Given the description of an element on the screen output the (x, y) to click on. 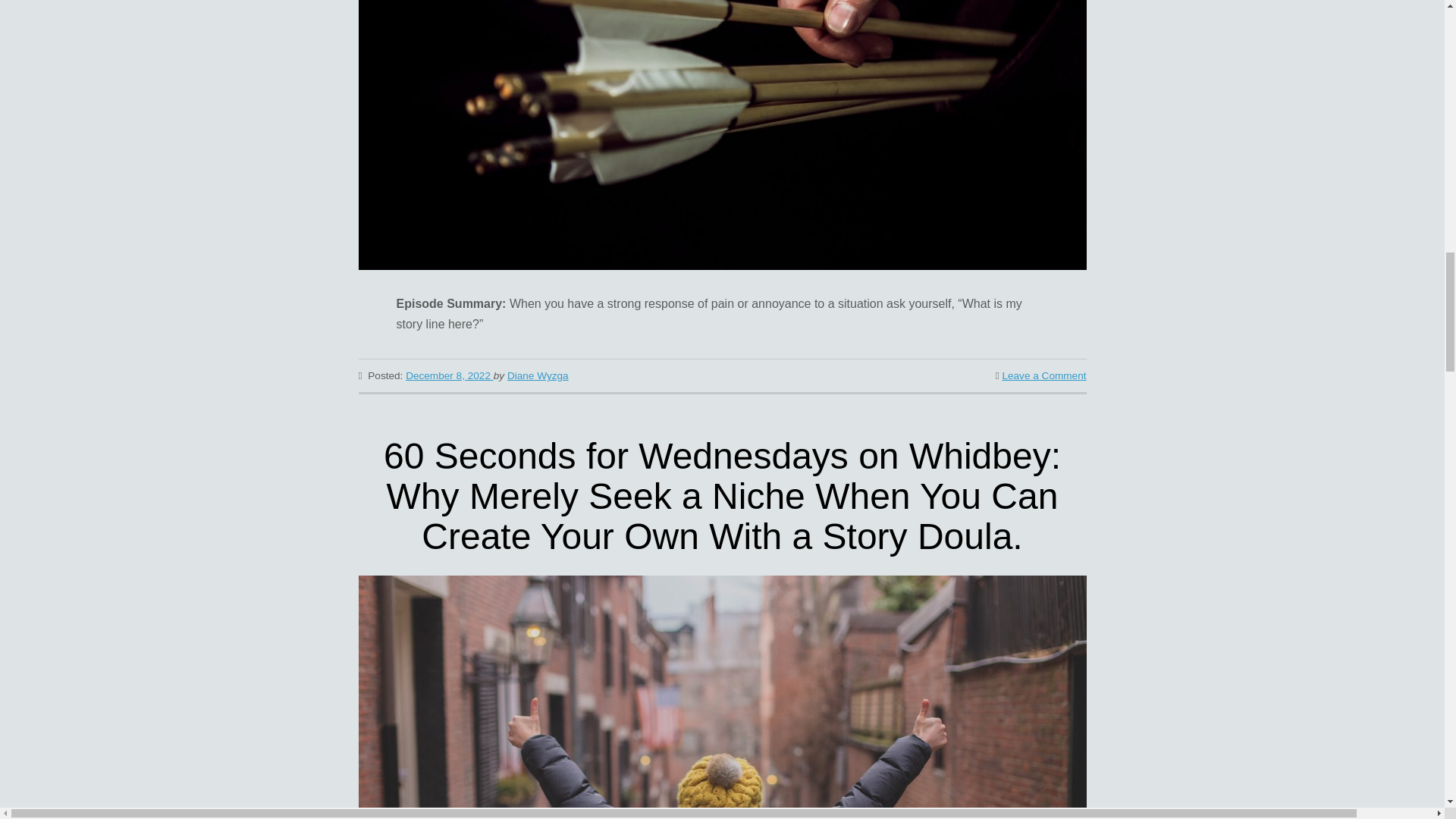
Diane Wyzga (537, 375)
6:21 pm (449, 375)
Posts by Diane Wyzga (537, 375)
Leave a Comment (1043, 375)
December 8, 2022 (449, 375)
